Given the description of an element on the screen output the (x, y) to click on. 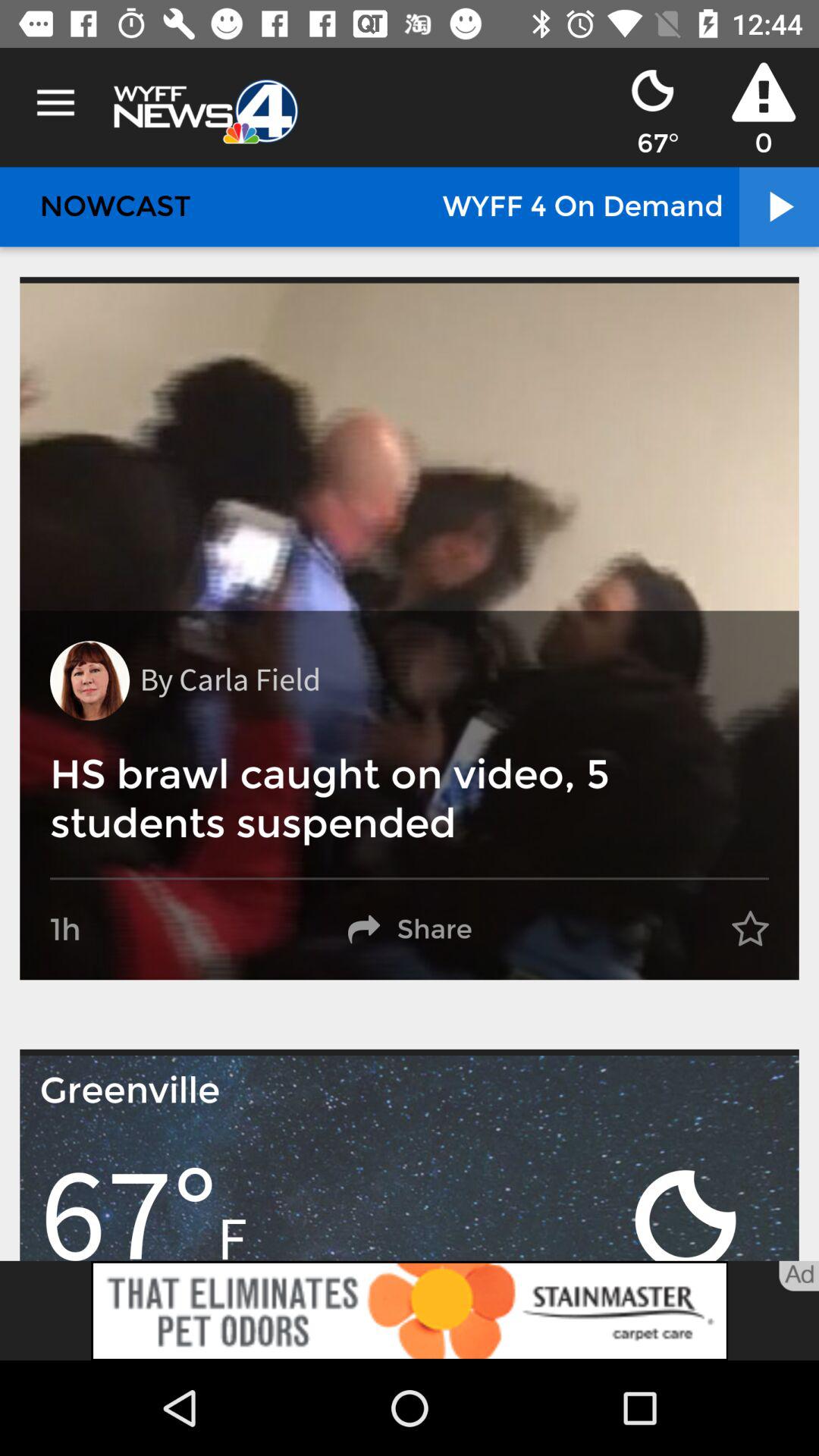
open the advertisement (409, 1310)
